Given the description of an element on the screen output the (x, y) to click on. 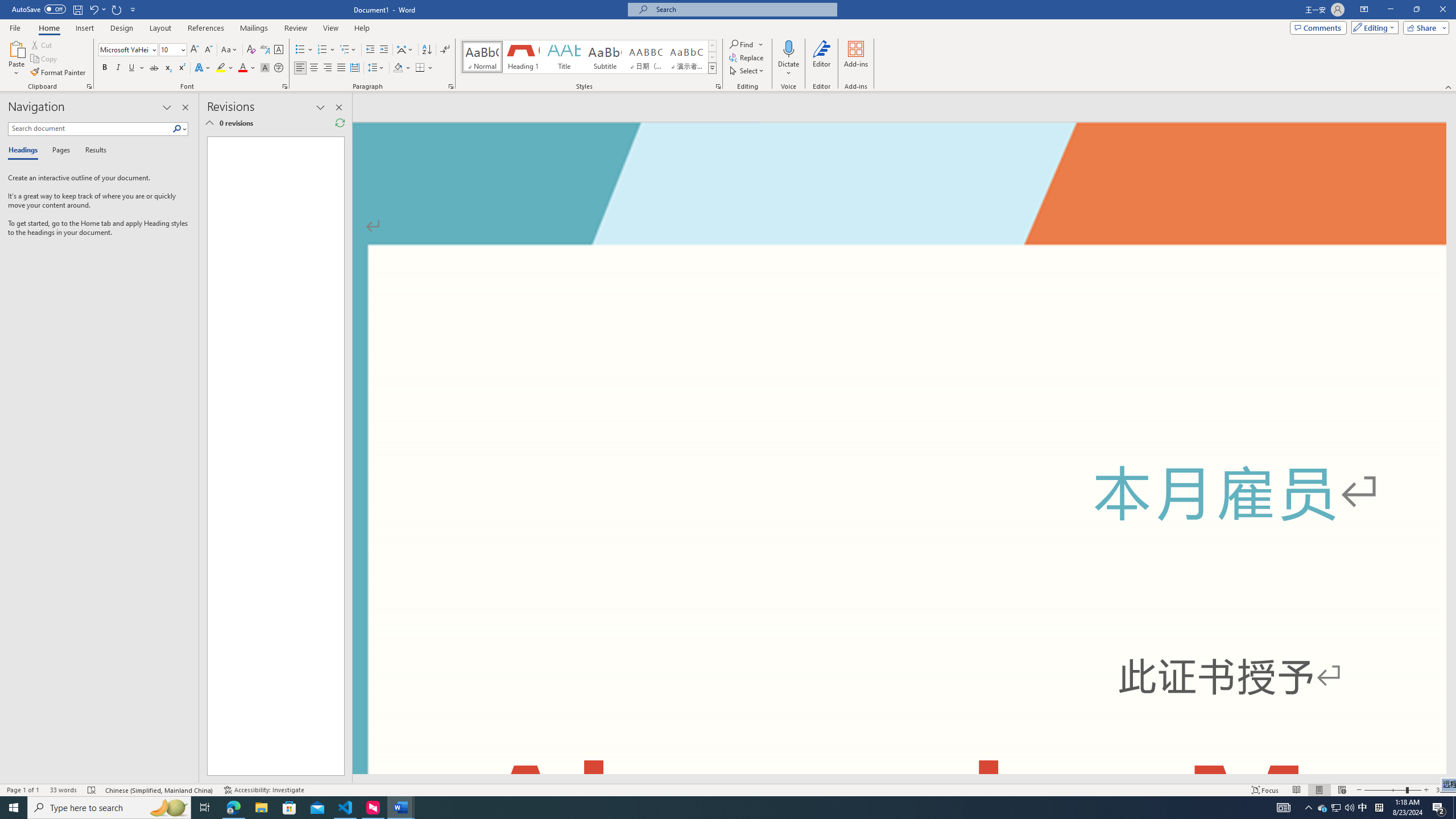
Page 1 content (898, 489)
